Given the description of an element on the screen output the (x, y) to click on. 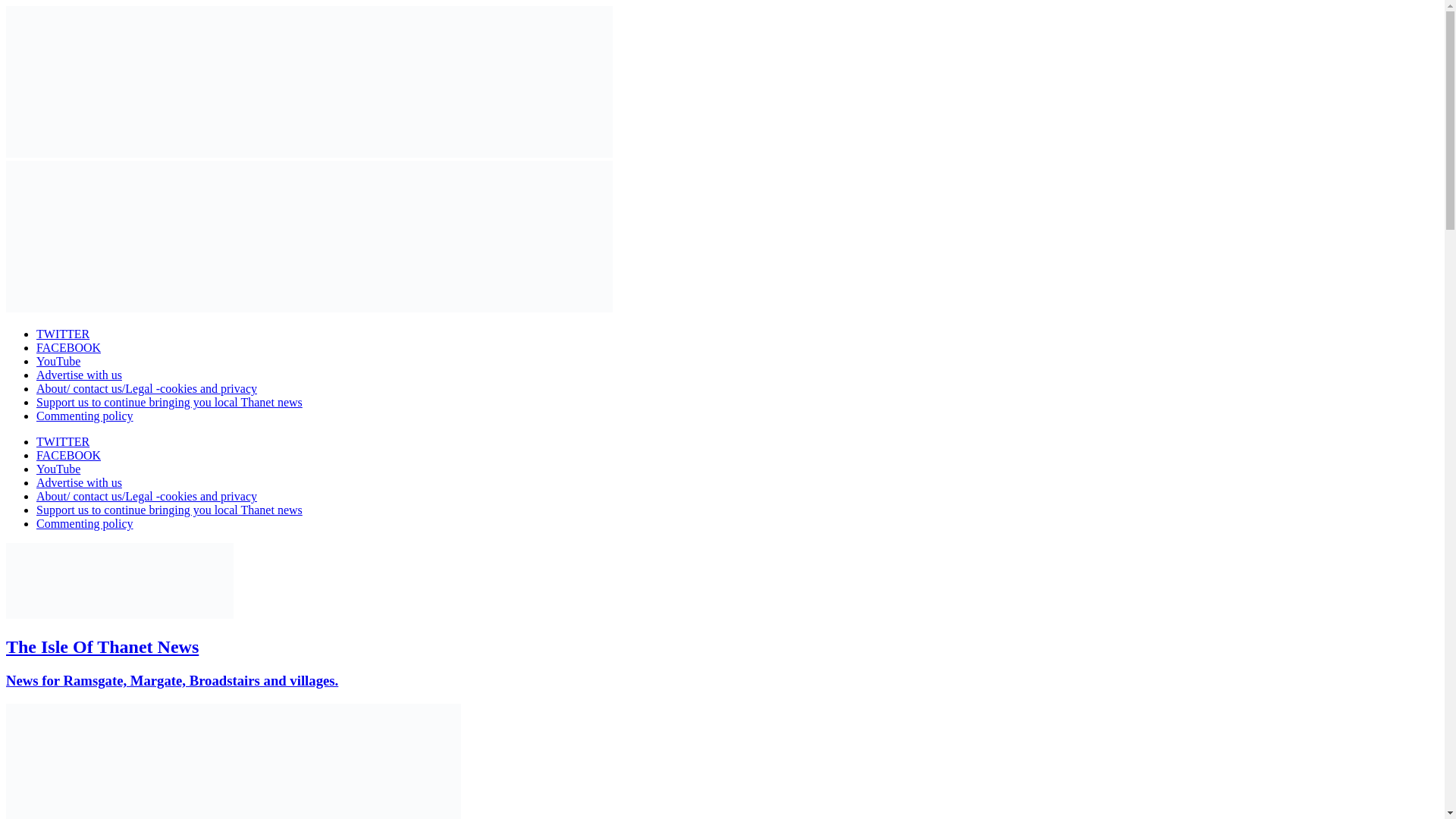
Advertise with us (79, 481)
FACEBOOK (68, 347)
Commenting policy (84, 415)
Support us to continue bringing you local Thanet news (169, 401)
FACEBOOK (68, 454)
Support us to continue bringing you local Thanet news (169, 509)
TWITTER (62, 440)
YouTube (58, 468)
YouTube (58, 360)
Advertise with us (79, 374)
Commenting policy (84, 522)
TWITTER (62, 333)
